Given the description of an element on the screen output the (x, y) to click on. 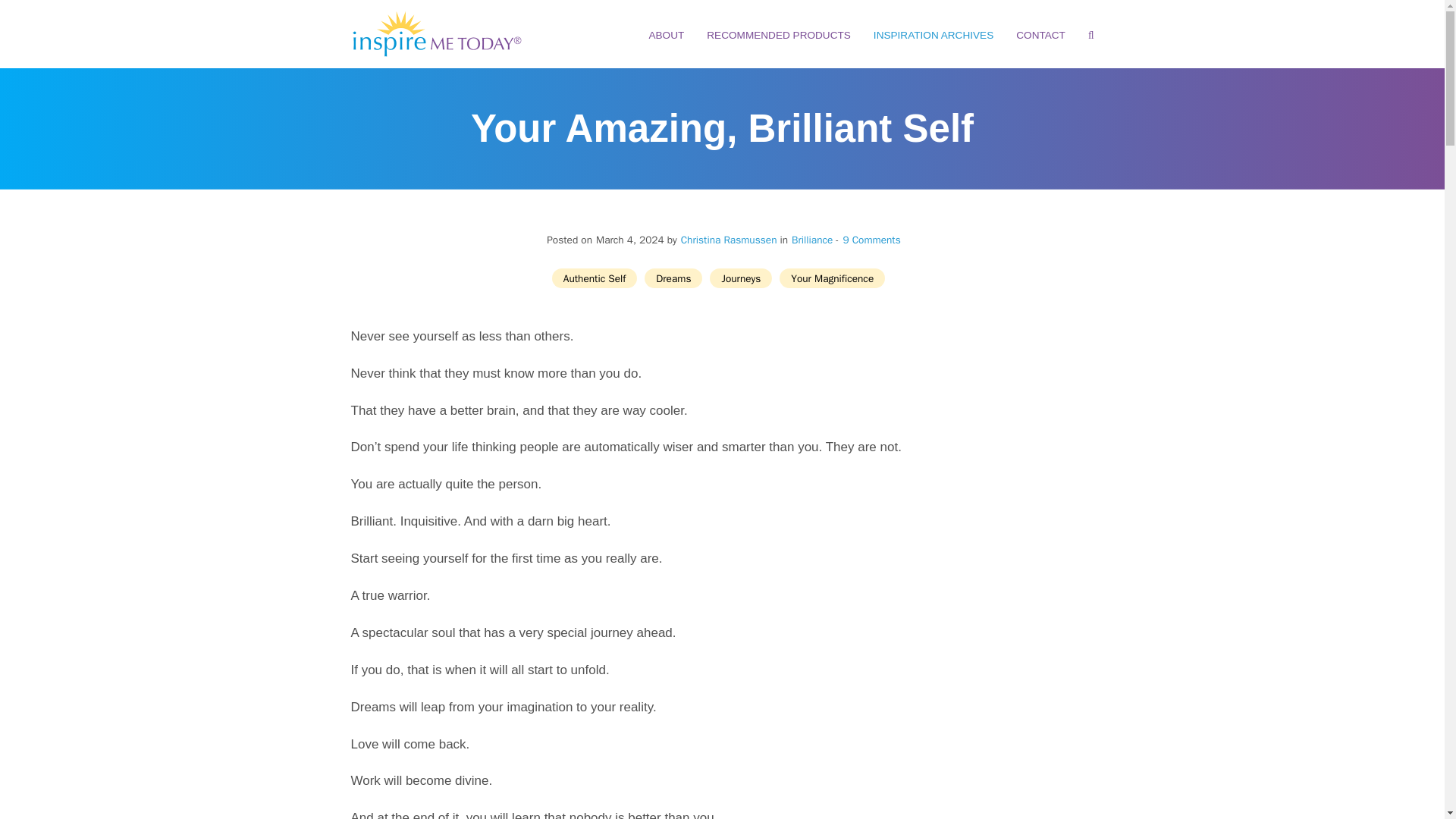
9 Comments (867, 239)
Posts by Christina Rasmussen (729, 239)
Journeys (740, 278)
CONTACT (1040, 35)
RECOMMENDED PRODUCTS (778, 35)
ABOUT (666, 35)
Authentic Self (594, 278)
Dreams (673, 278)
Brilliance (812, 239)
Christina Rasmussen (729, 239)
9 Comments (871, 239)
INSPIRATION ARCHIVES (932, 35)
Your Magnificence (831, 278)
